Given the description of an element on the screen output the (x, y) to click on. 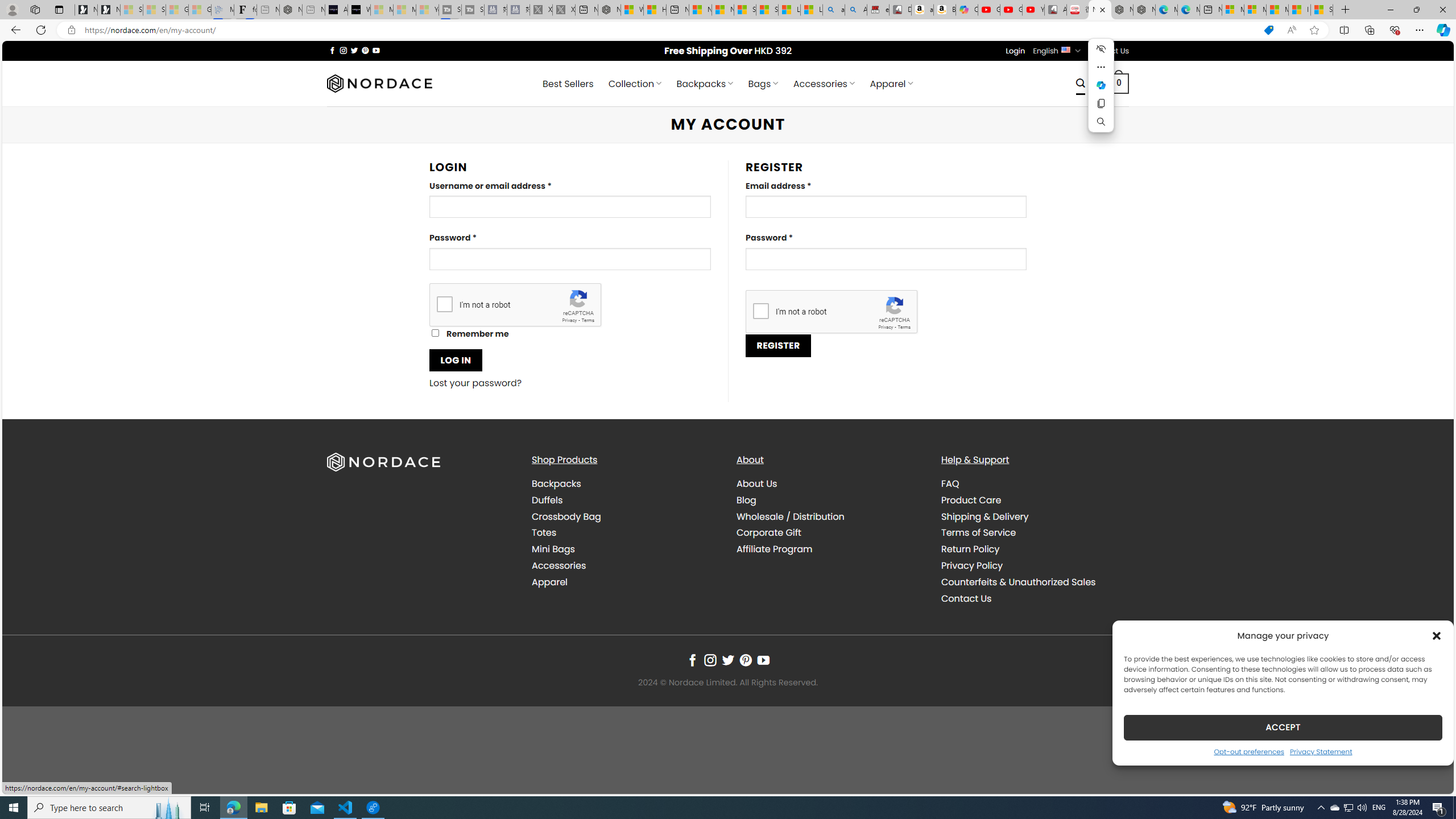
Privacy Policy (971, 565)
X - Sleeping (563, 9)
About Us (830, 483)
Crossbody Bag (625, 516)
Microsoft Start Sports - Sleeping (381, 9)
Refresh (40, 29)
Mini menu on text selection (1100, 91)
Settings and more (Alt+F) (1419, 29)
amazon - Search (834, 9)
Apparel (549, 581)
Follow on Pinterest (745, 659)
Class: cmplz-close (1436, 635)
Personal Profile (12, 9)
